Given the description of an element on the screen output the (x, y) to click on. 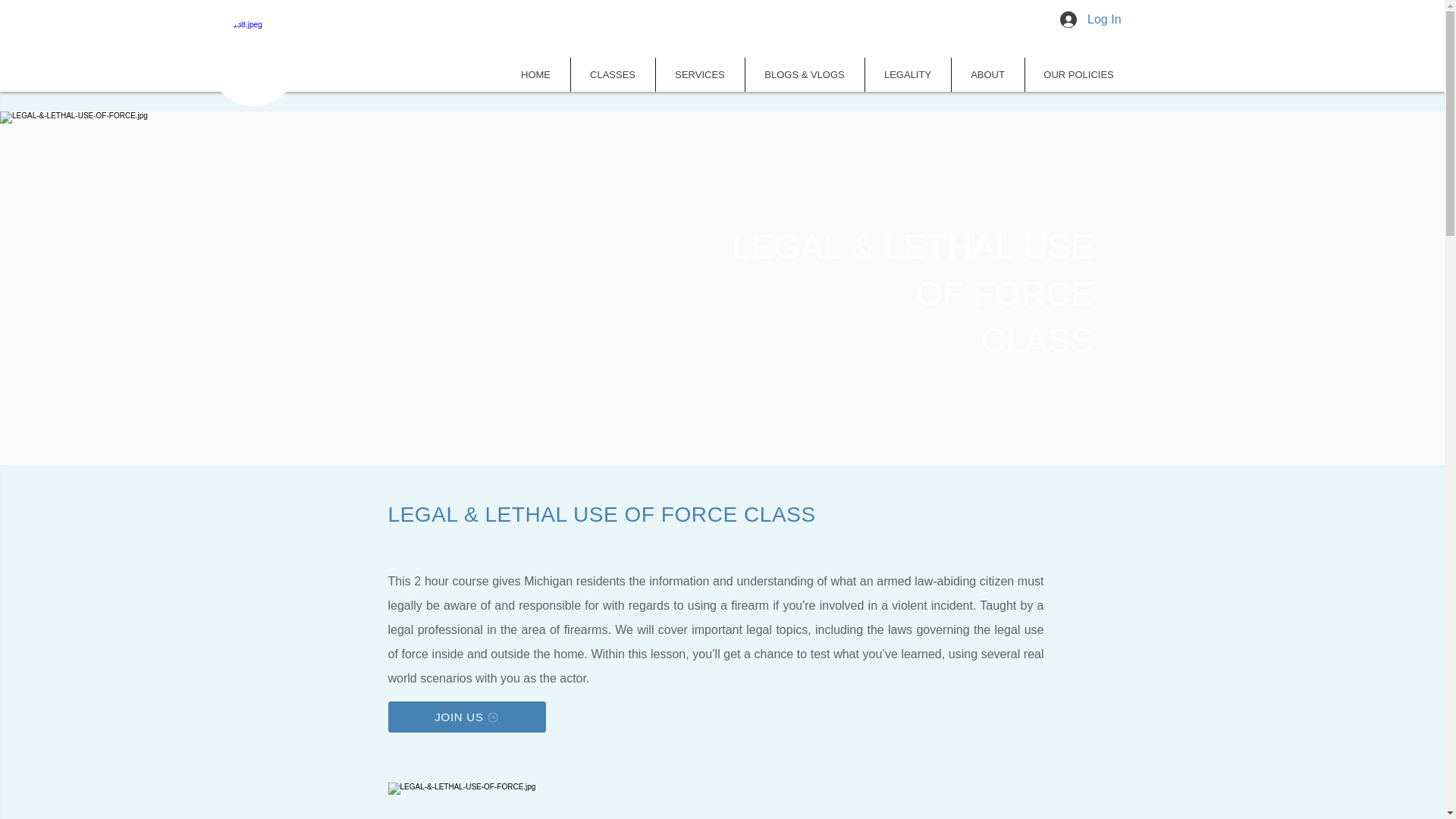
HOME (536, 74)
ABOUT (987, 74)
LEGALITY (907, 74)
JOIN US (467, 716)
Log In (1090, 19)
